Given the description of an element on the screen output the (x, y) to click on. 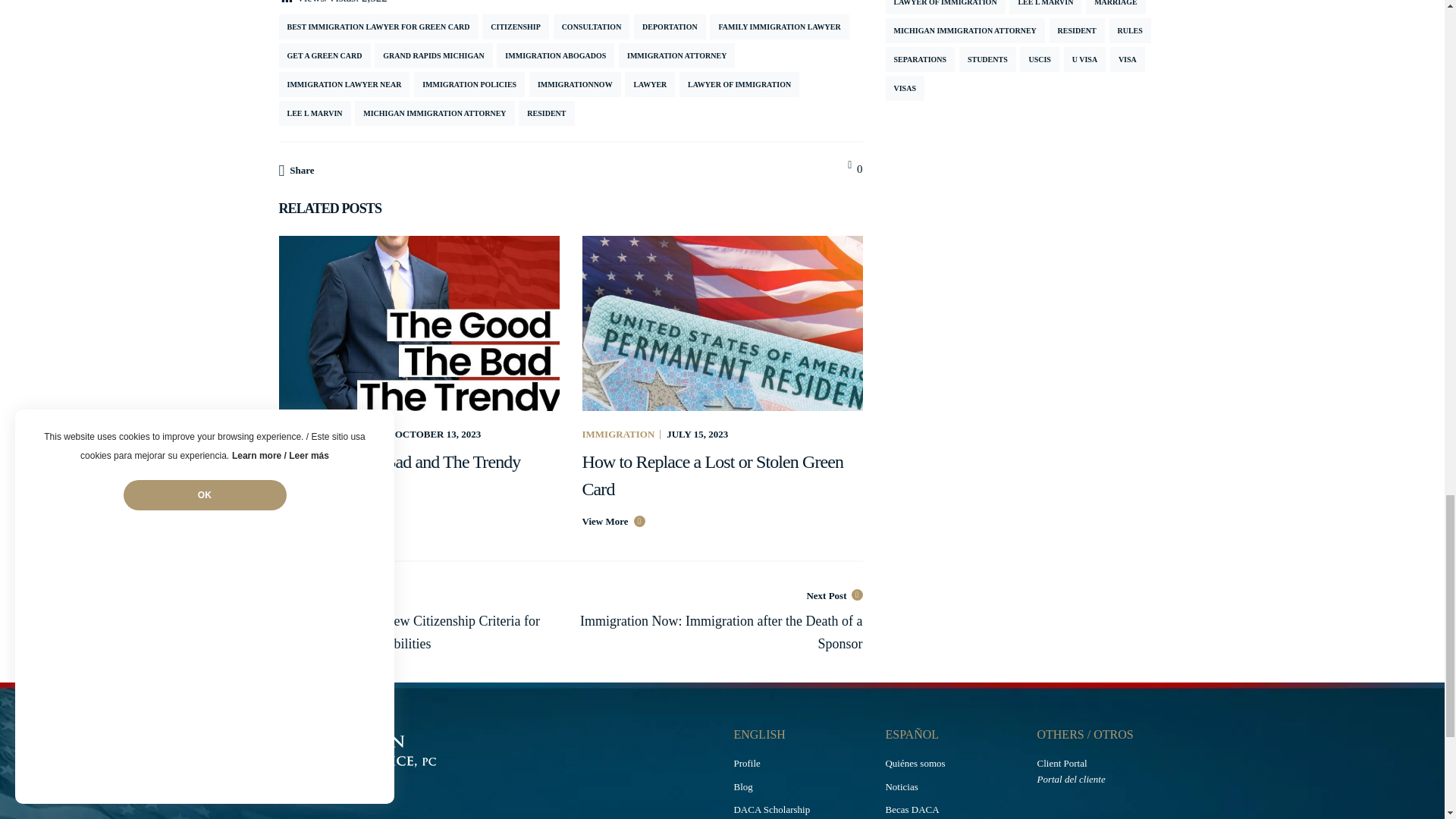
logo-foot (408, 749)
